Given the description of an element on the screen output the (x, y) to click on. 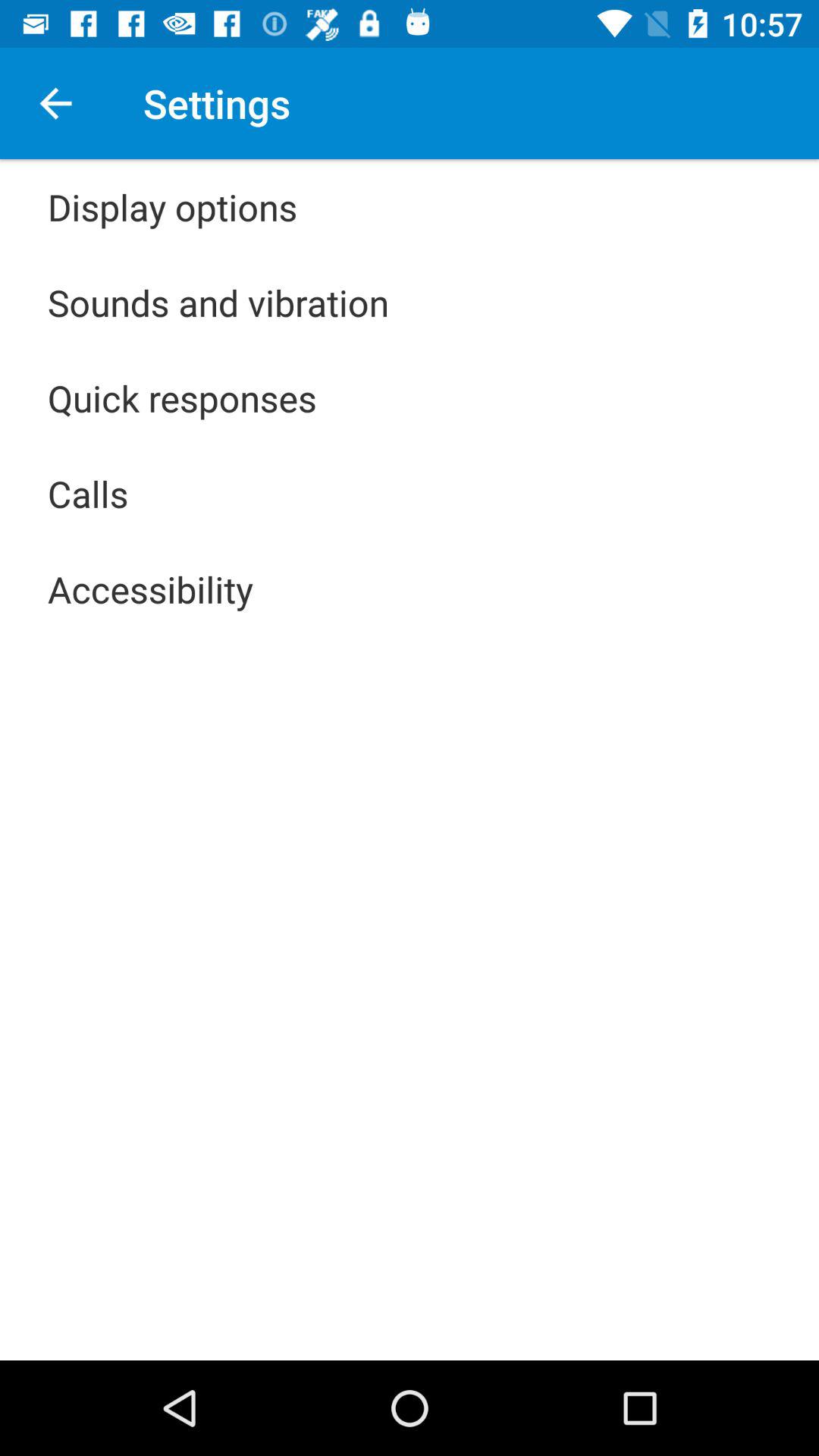
flip to the sounds and vibration app (218, 302)
